Given the description of an element on the screen output the (x, y) to click on. 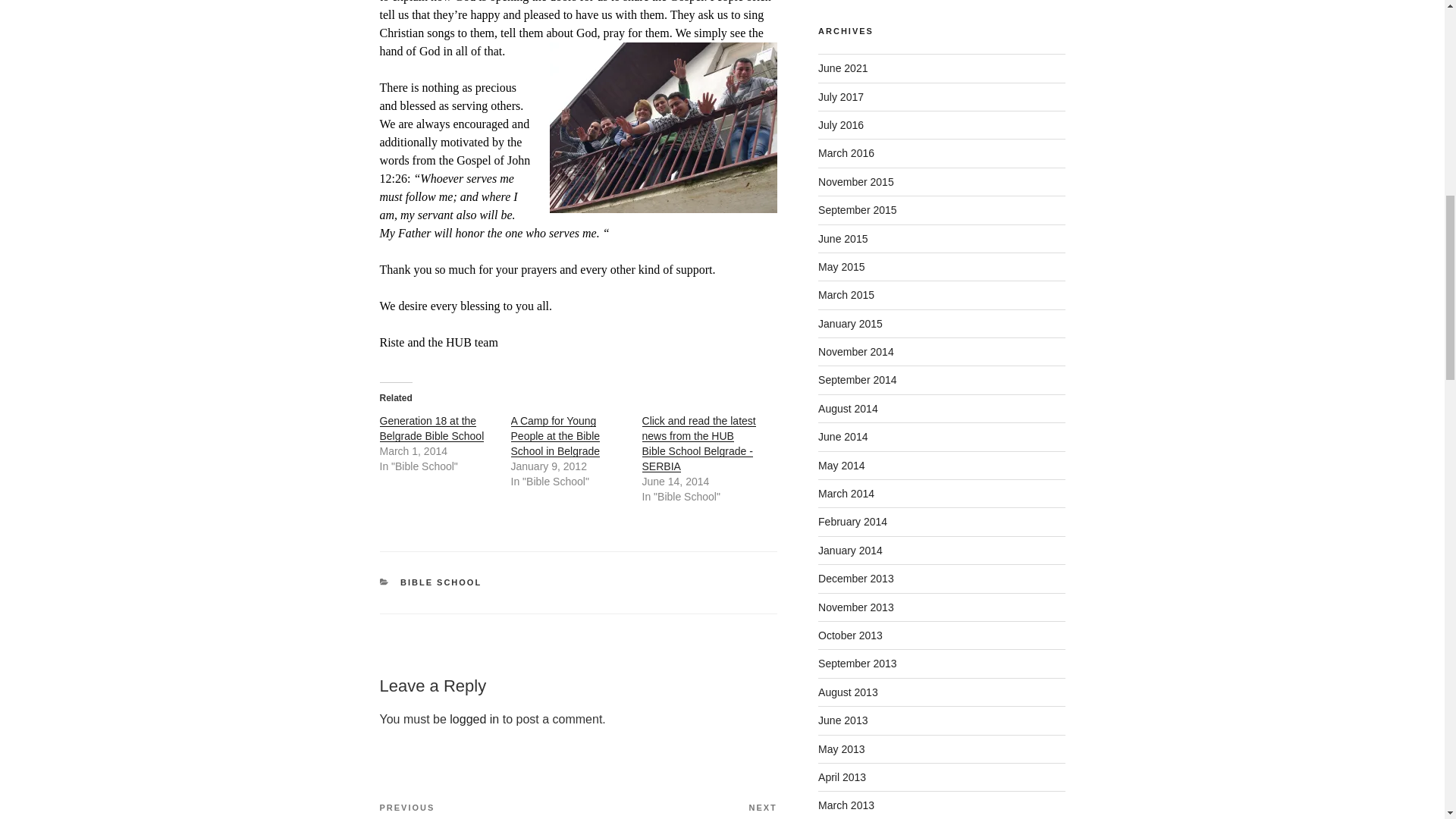
July 2017 (840, 96)
September 2015 (857, 209)
Generation 18 at the Belgrade Bible School (430, 428)
June 2021 (842, 68)
November 2015 (855, 182)
Generation 18 at the Belgrade Bible School (430, 428)
BIBLE SCHOOL (440, 582)
May 2015 (841, 266)
March 2016 (846, 152)
logged in (474, 718)
A Camp for Young People at the Bible School in Belgrade (555, 435)
July 2016 (840, 124)
